Given the description of an element on the screen output the (x, y) to click on. 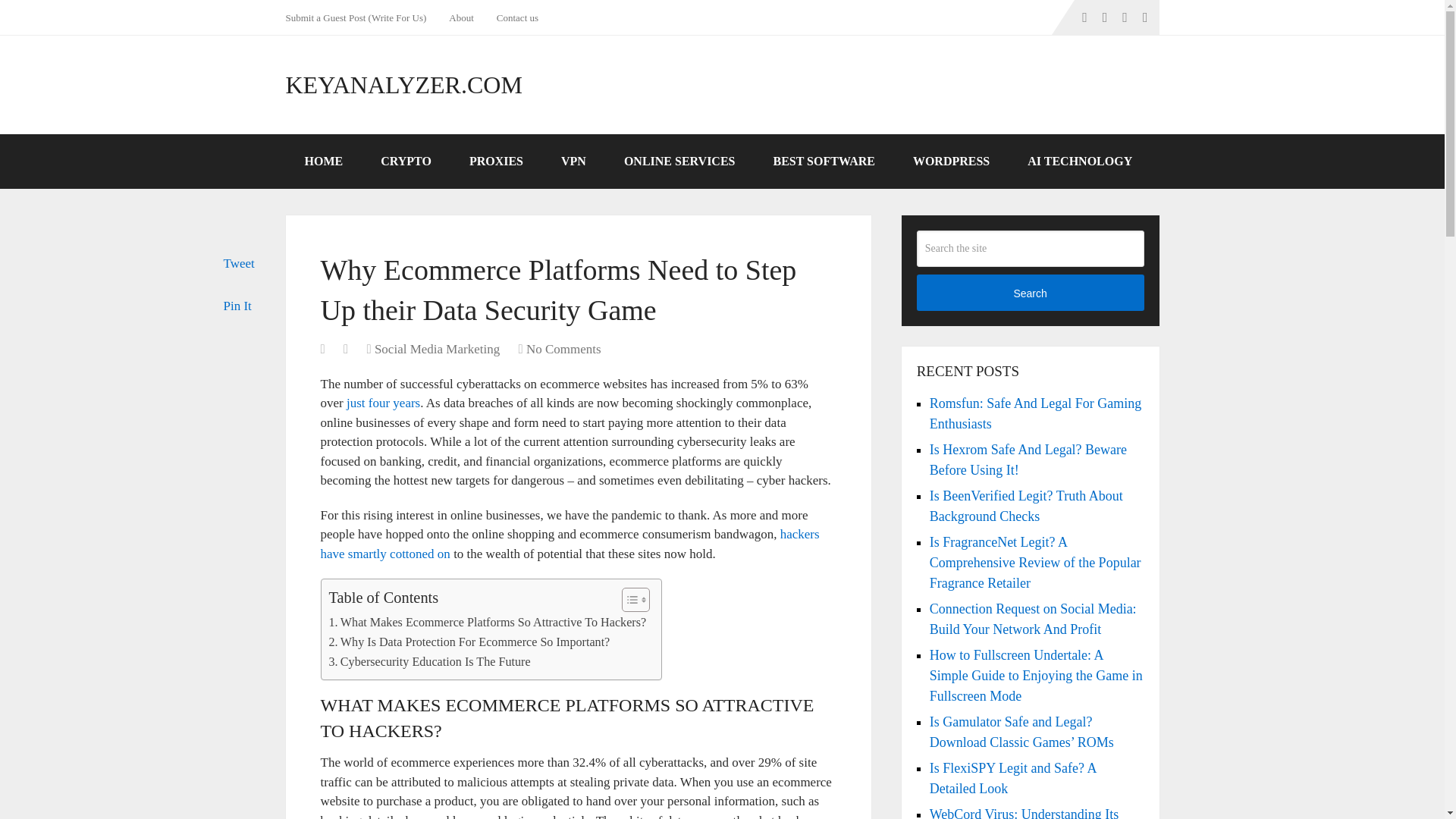
CRYPTO (405, 161)
VPN (573, 161)
Cybersecurity Education Is The Future (430, 661)
BEST SOFTWARE (823, 161)
View all posts in Social Media Marketing (436, 349)
Cybersecurity Education Is The Future (430, 661)
Pin It (236, 305)
Tweet (237, 263)
What Makes Ecommerce Platforms So Attractive To Hackers? (487, 622)
just four years (383, 402)
